Given the description of an element on the screen output the (x, y) to click on. 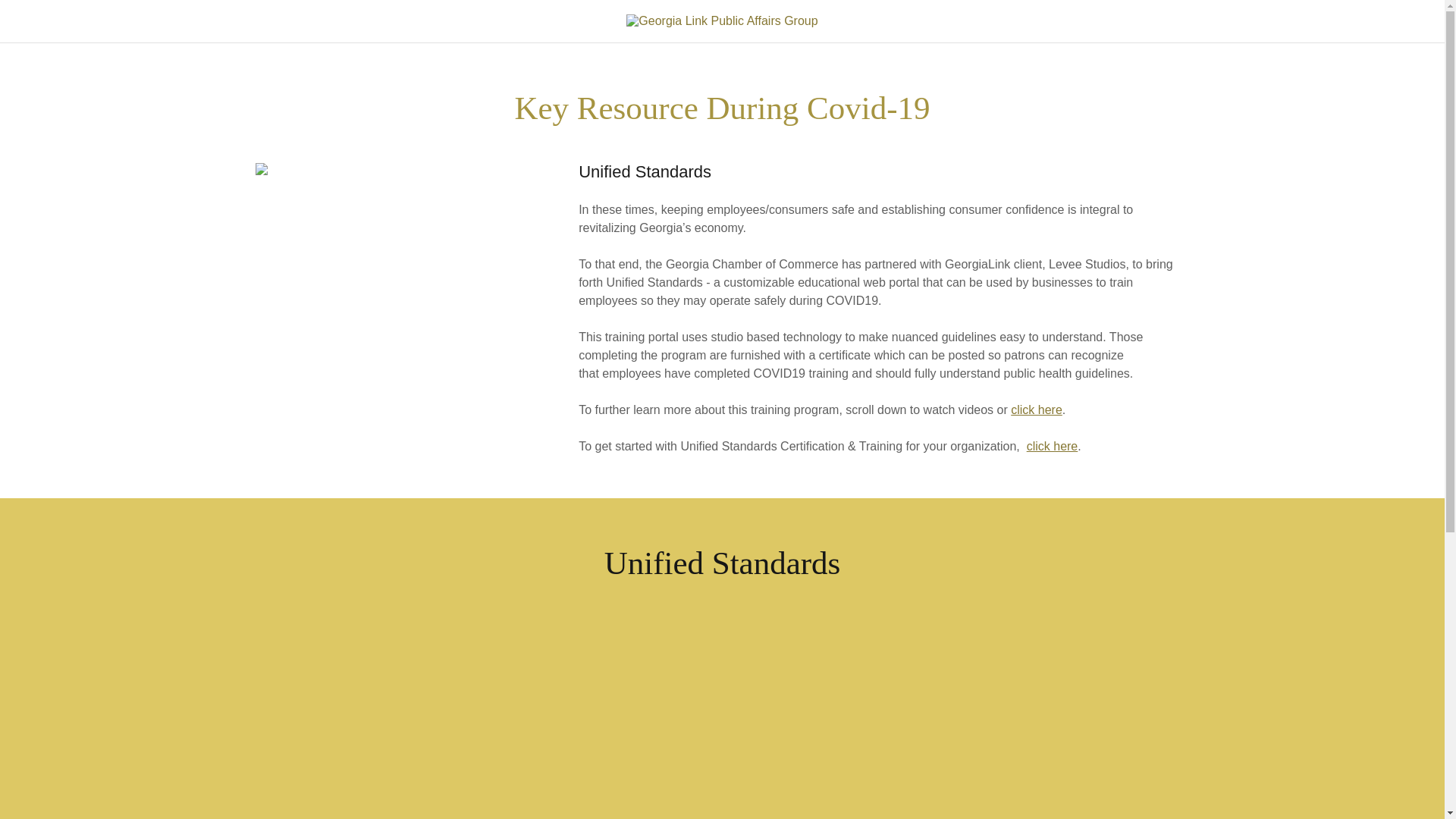
Georgia Link Public Affairs Group (721, 20)
